Given the description of an element on the screen output the (x, y) to click on. 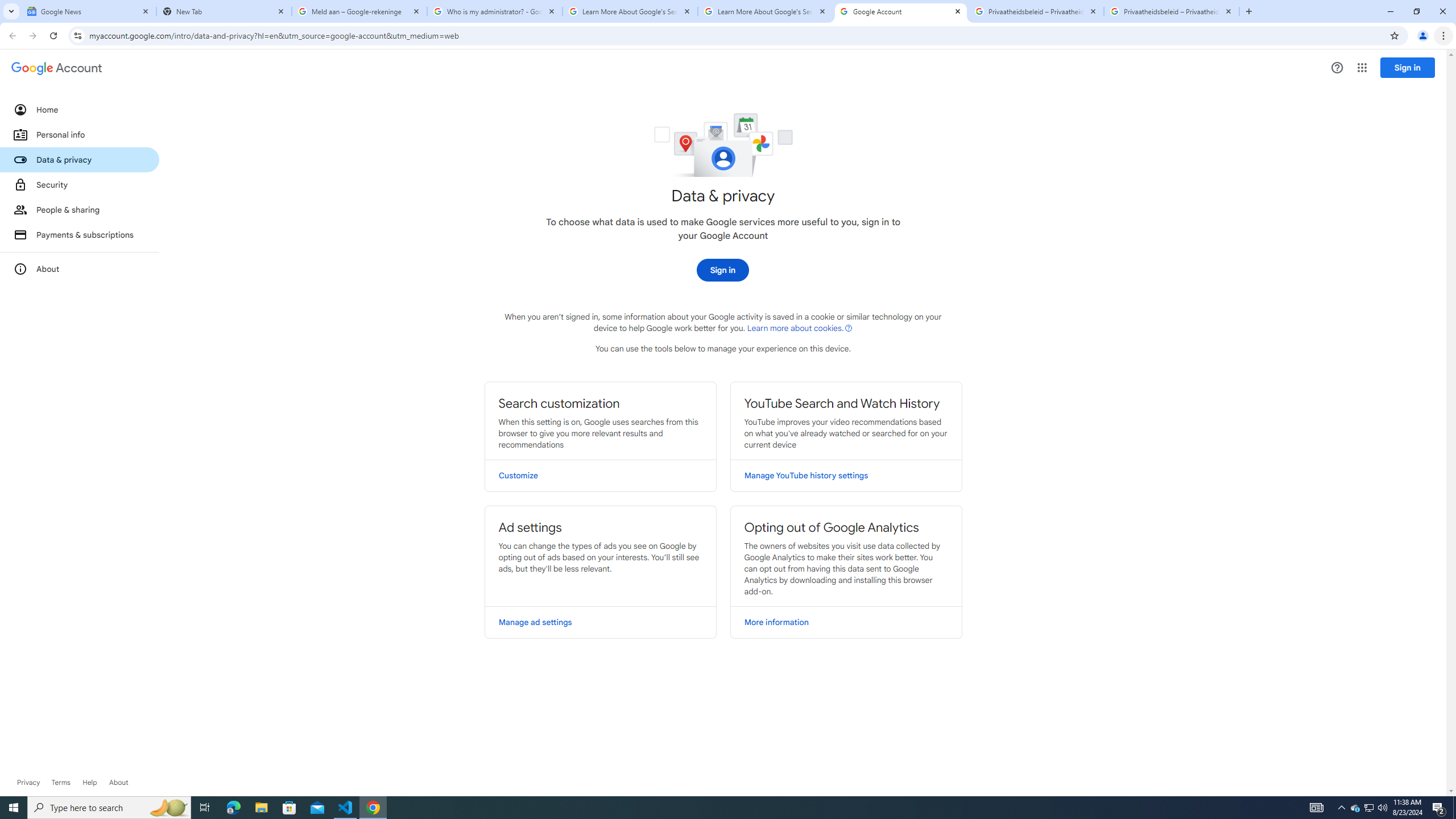
Security (79, 184)
More information about the Google Account (79, 268)
Learn more about cookies (Opens in new tab) (799, 327)
Google Account (901, 11)
Home (79, 109)
New Tab (224, 11)
